Given the description of an element on the screen output the (x, y) to click on. 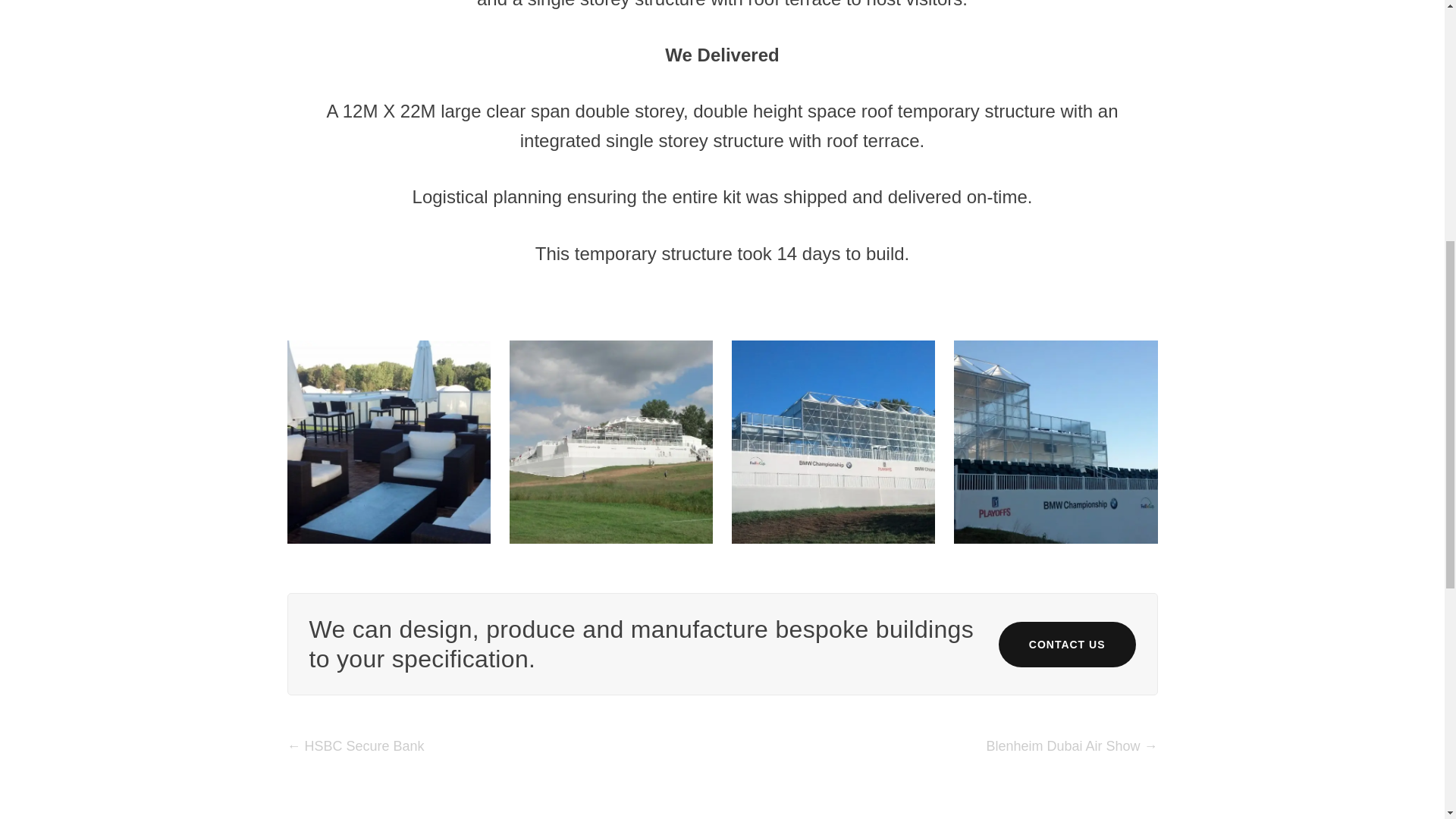
CONTACT US (1066, 644)
Send Enquiry (695, 169)
Send Enquiry (695, 169)
HSBC Secure Bank (354, 745)
Blenheim Dubai Air Show (1071, 745)
